Given the description of an element on the screen output the (x, y) to click on. 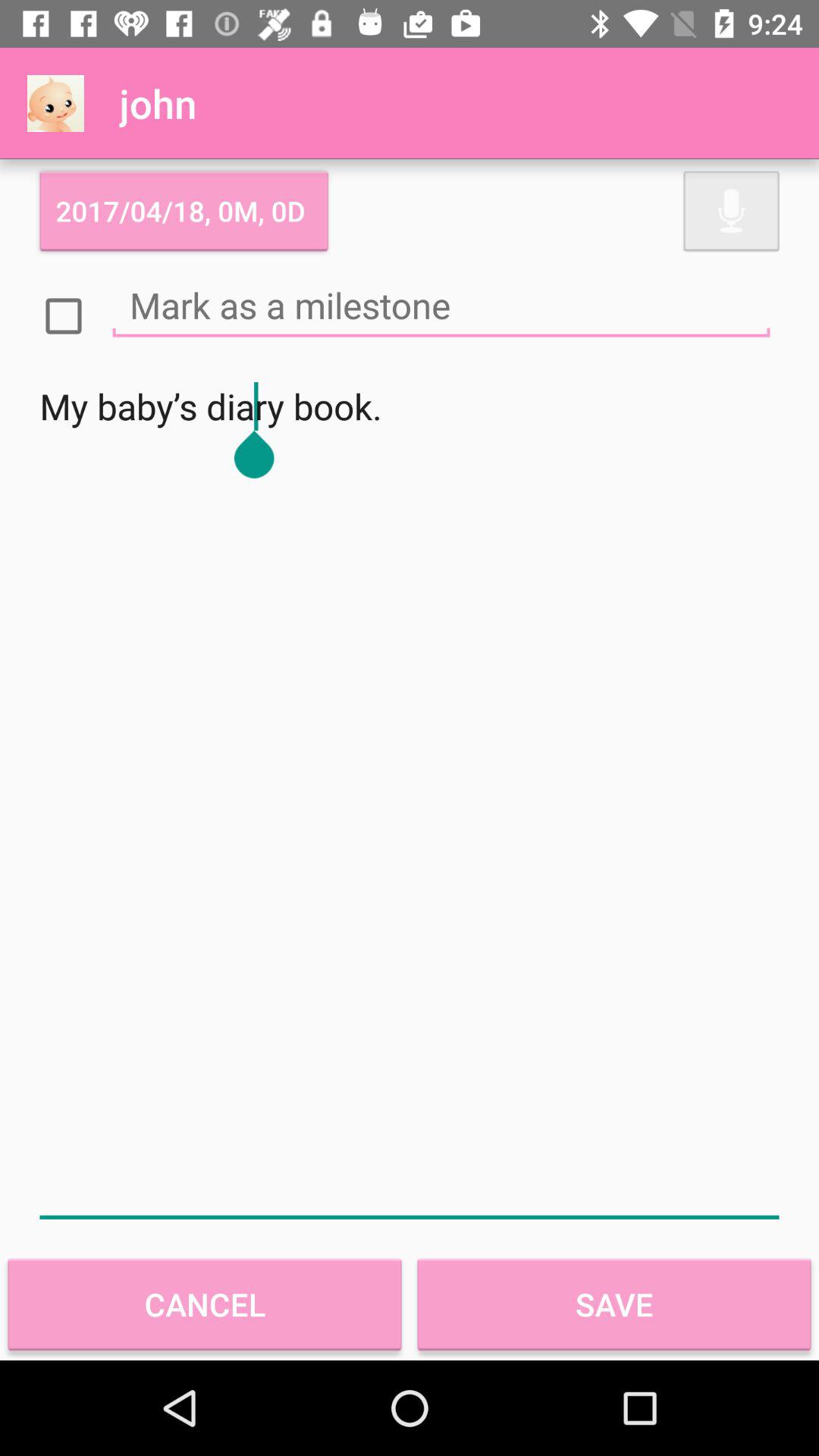
swipe to the 2017 04 18 item (183, 210)
